Given the description of an element on the screen output the (x, y) to click on. 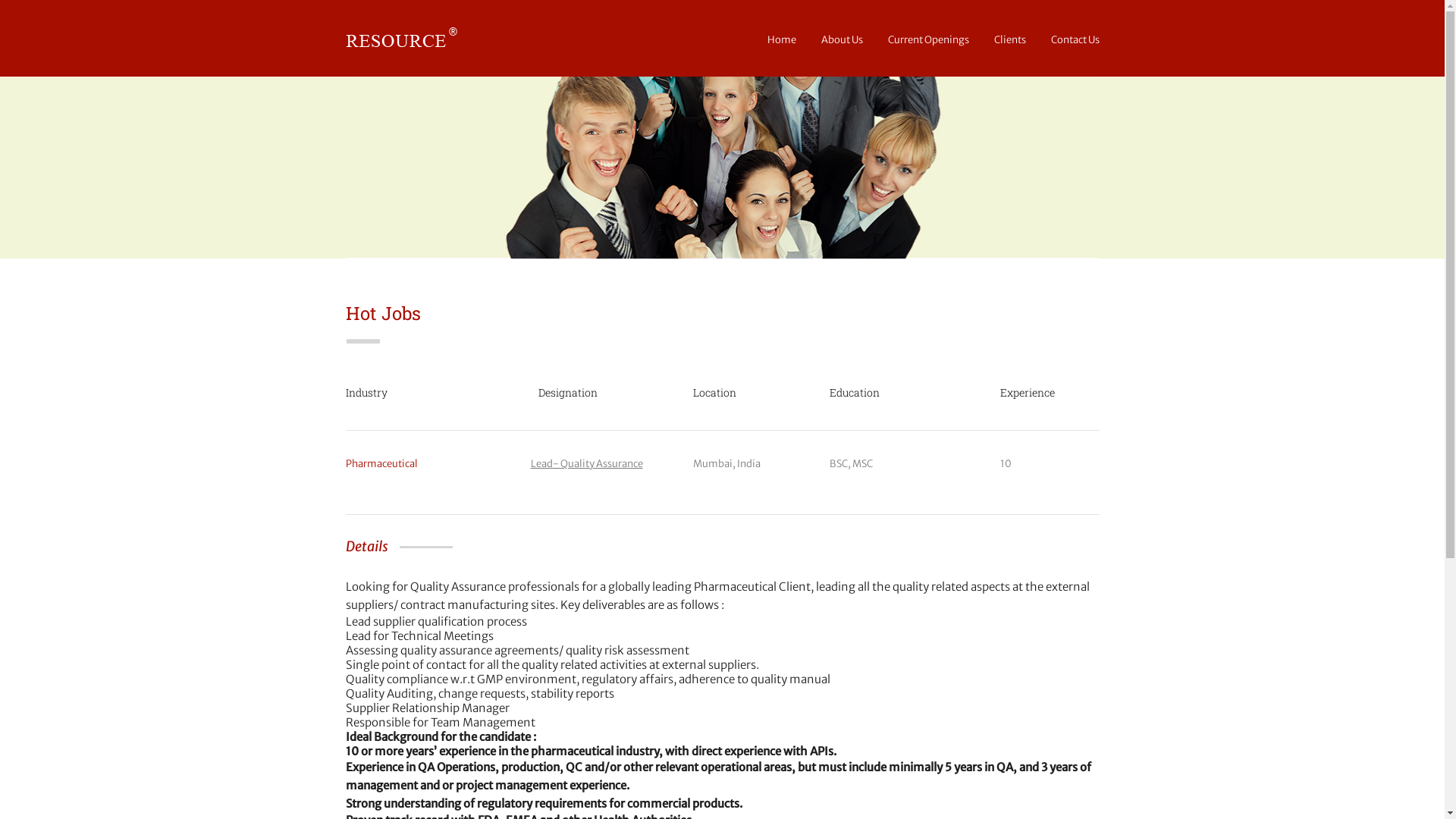
Current Openings Element type: text (927, 39)
About Us Element type: text (841, 39)
Clients Element type: text (1009, 39)
Contact Us Element type: text (1075, 39)
Home Element type: text (781, 39)
